Given the description of an element on the screen output the (x, y) to click on. 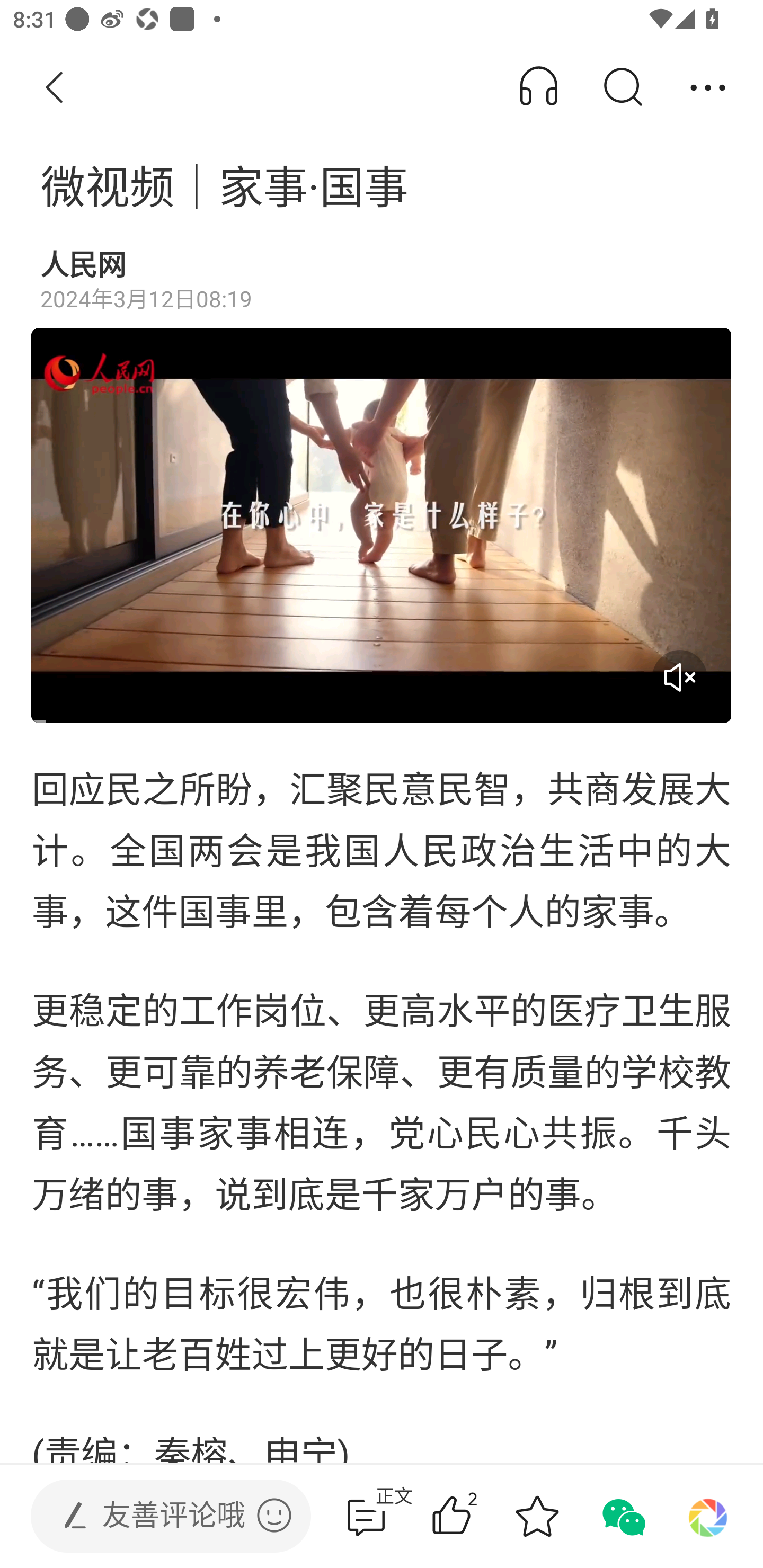
搜索  (622, 87)
分享  (707, 87)
 返回 (54, 87)
人民网 2024年3月12日08:19 (381, 280)
03:49 (381, 524)
音量开关 (679, 677)
发表评论  友善评论哦 发表评论  (155, 1516)
2评论  正文 正文 (365, 1516)
2赞 (476, 1516)
收藏  (536, 1516)
分享到微信  (622, 1516)
分享到朋友圈 (707, 1516)
 (274, 1515)
